Given the description of an element on the screen output the (x, y) to click on. 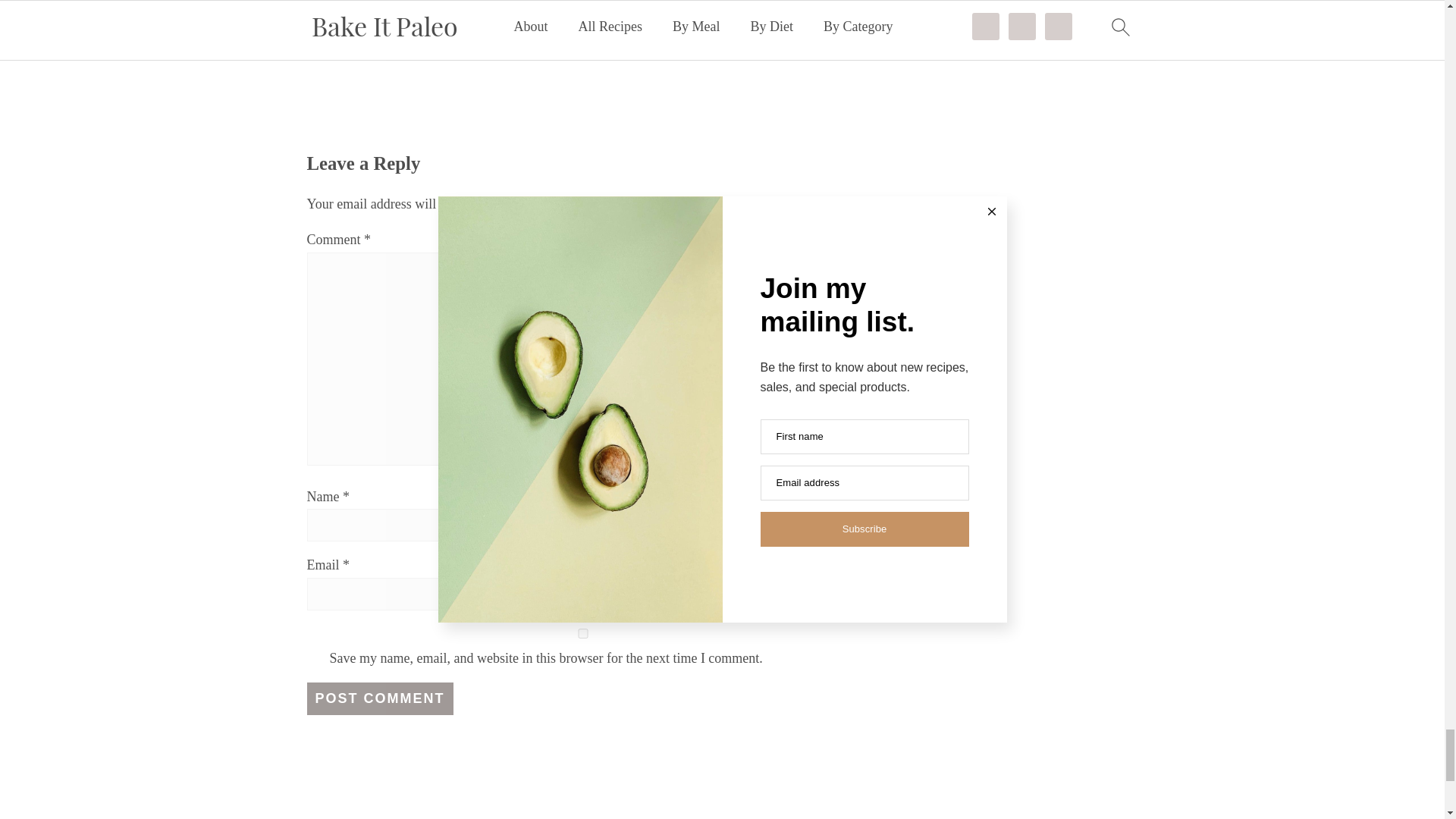
yes (582, 633)
Post Comment (378, 698)
